Given the description of an element on the screen output the (x, y) to click on. 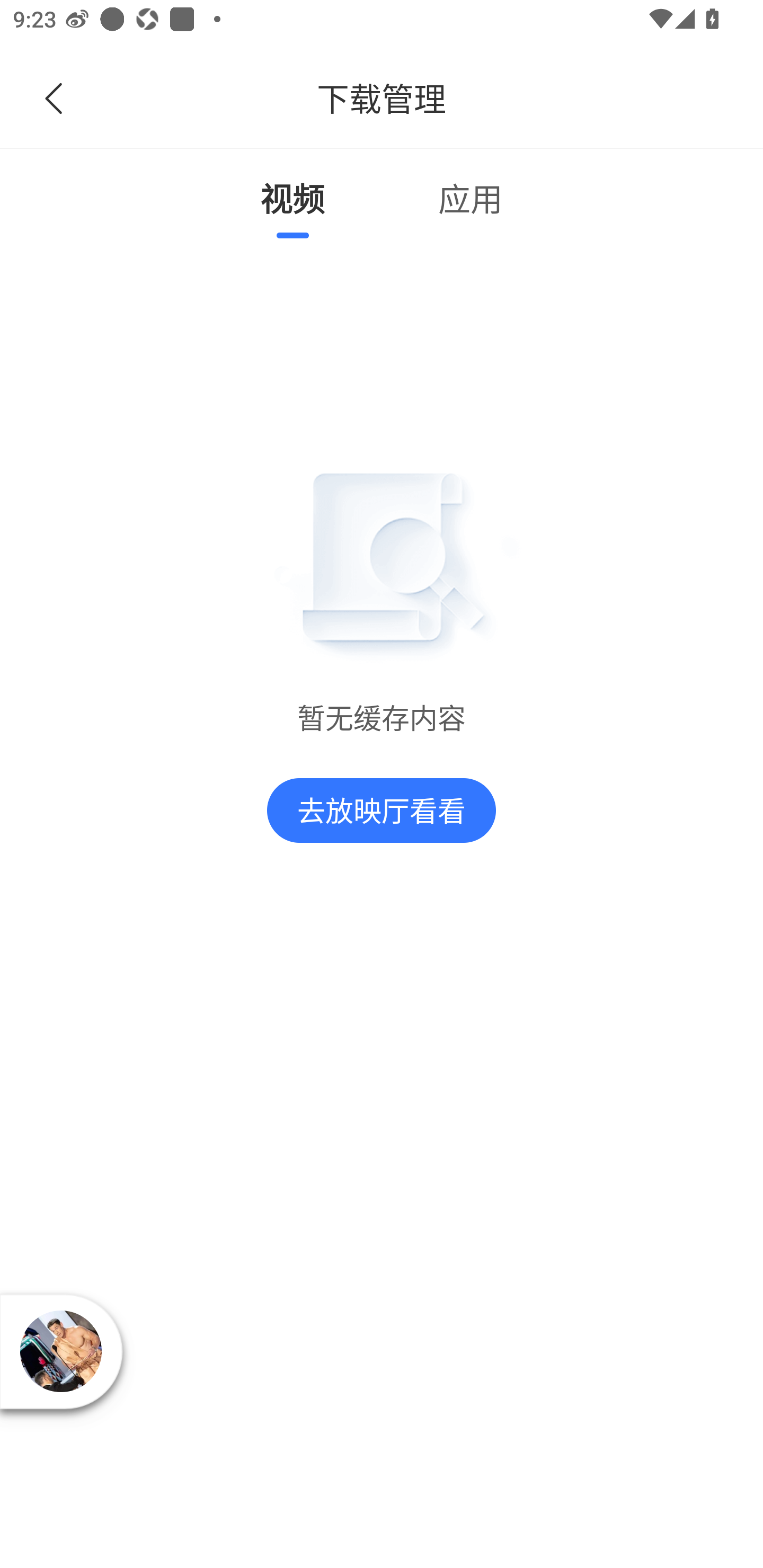
播放器 (61, 1351)
